Given the description of an element on the screen output the (x, y) to click on. 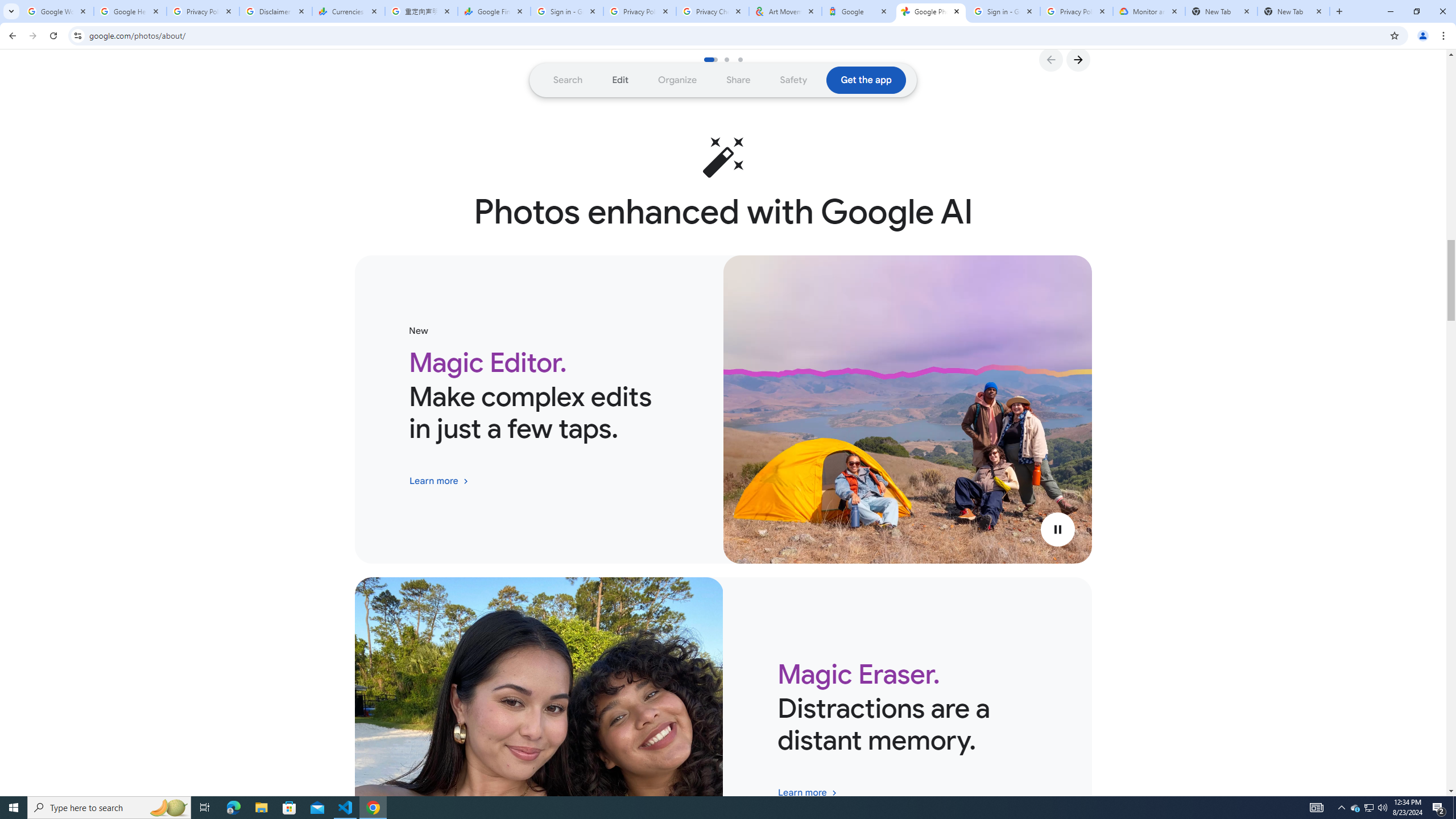
Go to section: Share (737, 80)
Go to Next Slide (1077, 59)
Go to section: Edit (620, 80)
Go to section: Safety (793, 80)
Go to section: Organize (677, 80)
New Tab (1221, 11)
Explore the Magic Eraser feature in Google Photos (807, 792)
Sign in - Google Accounts (566, 11)
